Given the description of an element on the screen output the (x, y) to click on. 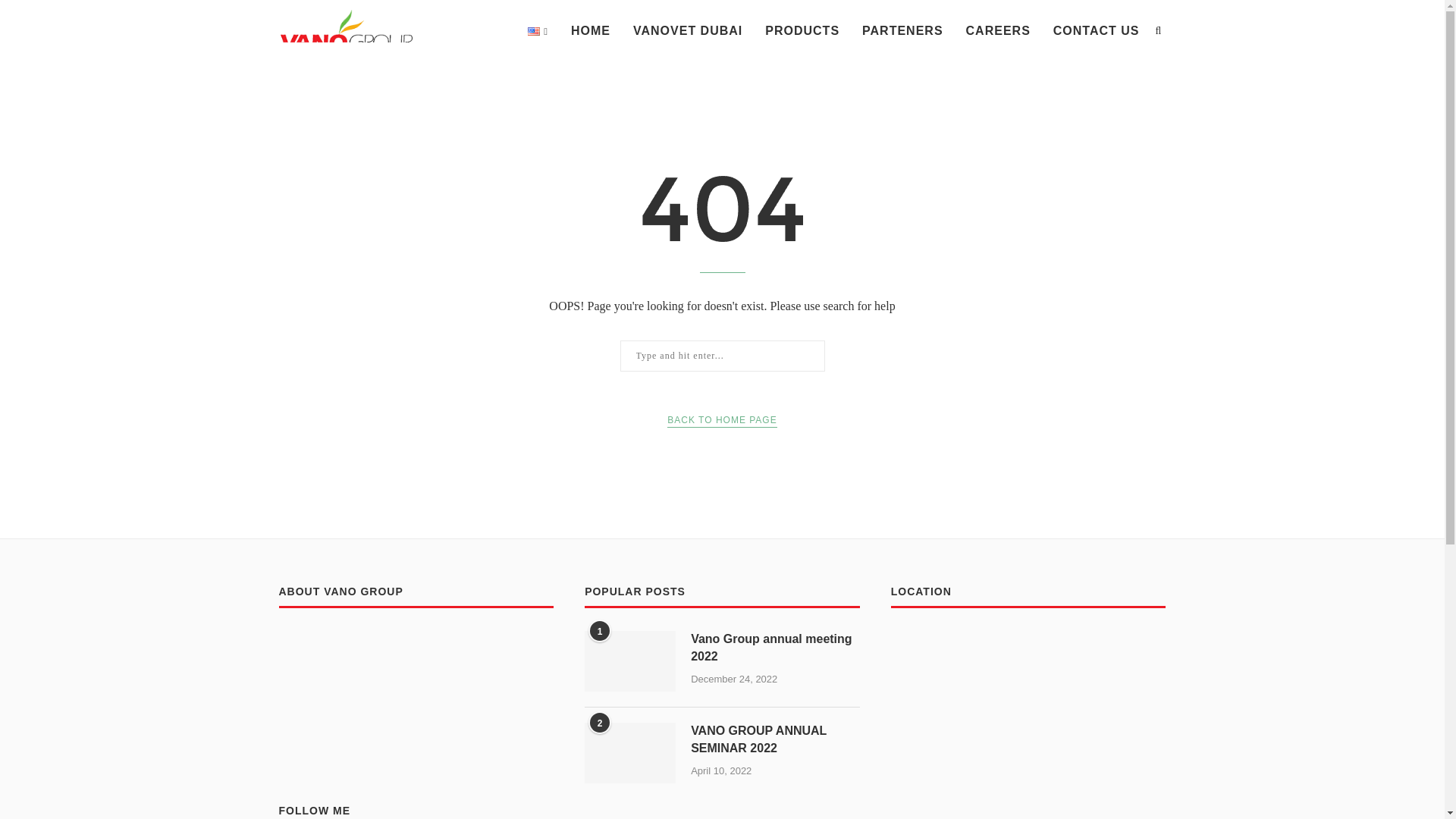
CAREERS (998, 30)
VANO GROUP ANNUAL SEMINAR 2022 (630, 752)
Vano Group annual meeting 2022 (630, 660)
VANO GROUP ANNUAL SEMINAR 2022 (775, 739)
BACK TO HOME PAGE (721, 420)
PARTENERS (902, 30)
Vano Group annual meeting 2022 (775, 647)
VANOVET DUBAI (687, 30)
Vano Group annual meeting 2022 (775, 647)
VANO GROUP ANNUAL SEMINAR 2022 (775, 739)
PRODUCTS (802, 30)
CONTACT US (1096, 30)
